Given the description of an element on the screen output the (x, y) to click on. 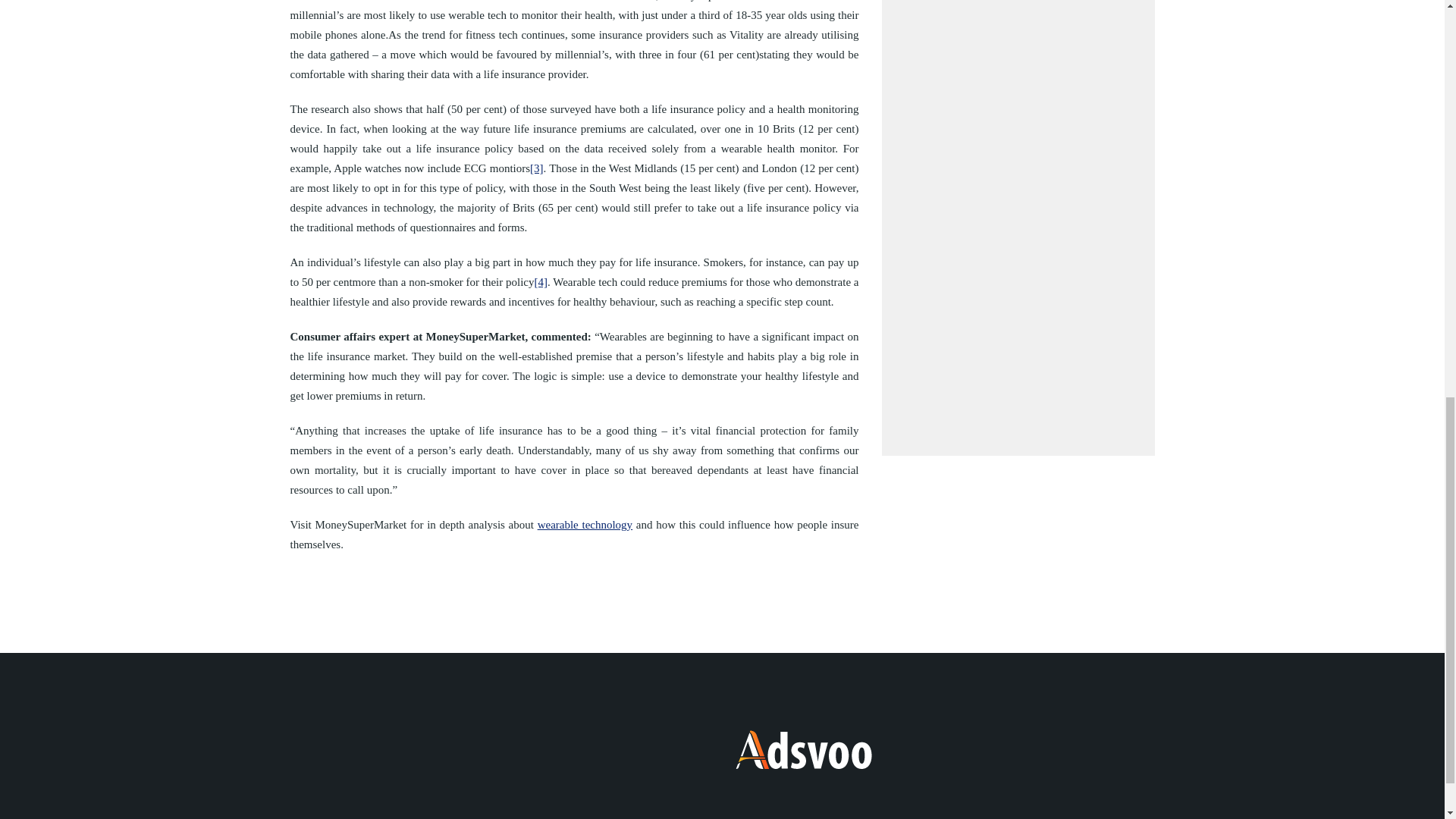
Advertisement (1018, 216)
